Given the description of an element on the screen output the (x, y) to click on. 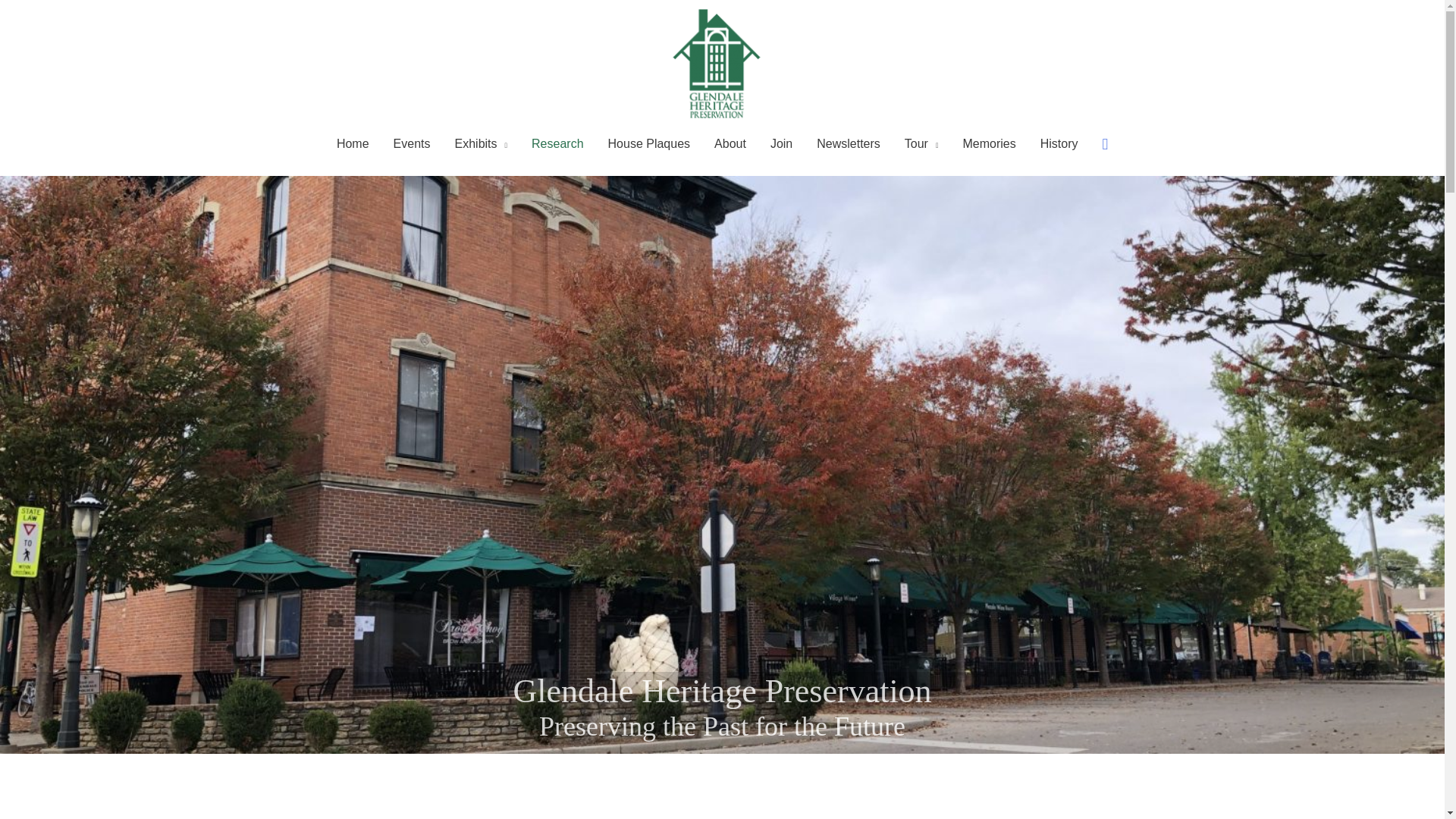
Tour (921, 143)
Memories (988, 143)
Home (352, 143)
House Plaques (649, 143)
Join (781, 143)
Events (411, 143)
Research (557, 143)
1 (9, 767)
3 (47, 767)
History (1058, 143)
Newsletters (848, 143)
About (729, 143)
2 (28, 767)
5 (85, 767)
4 (66, 767)
